Given the description of an element on the screen output the (x, y) to click on. 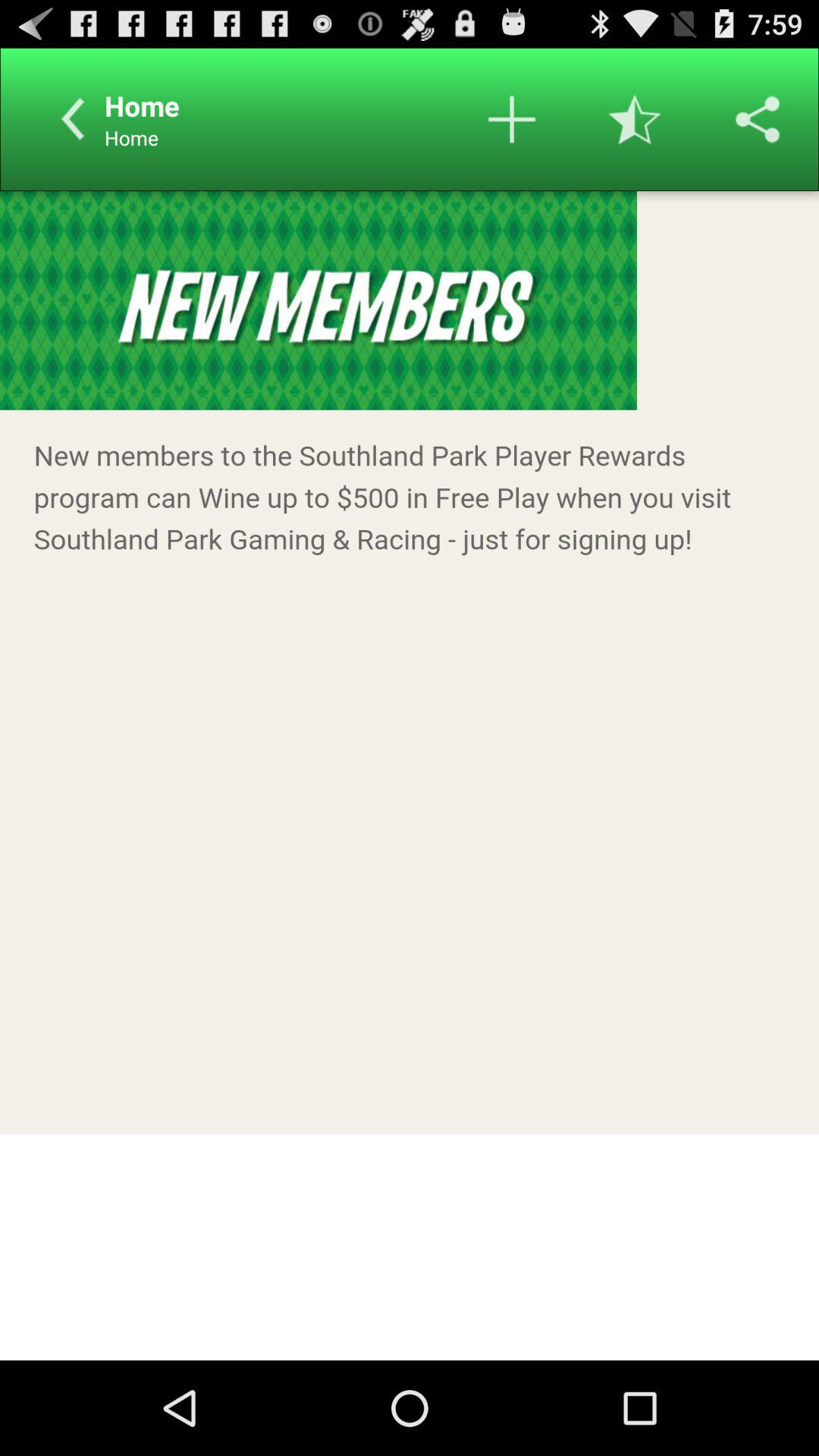
add item option (511, 119)
